Given the description of an element on the screen output the (x, y) to click on. 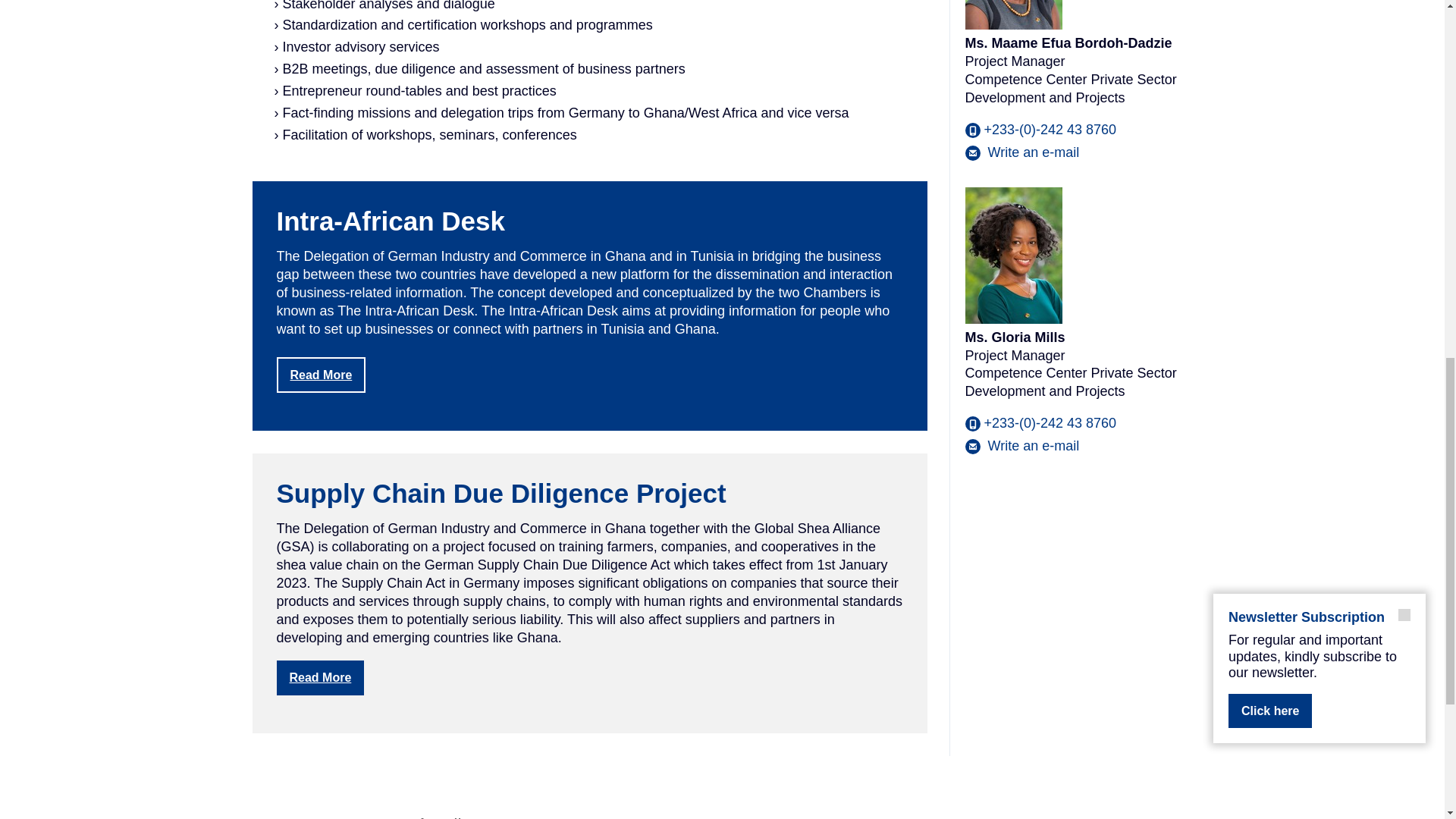
Ms.  Gloria Mills (1020, 445)
Ms. Maame Efua Bordoh-Dadzie (1012, 14)
Ms. Gloria Mills (1012, 255)
Ms.  Maame Efua Bordoh-Dadzie (1020, 152)
